Given the description of an element on the screen output the (x, y) to click on. 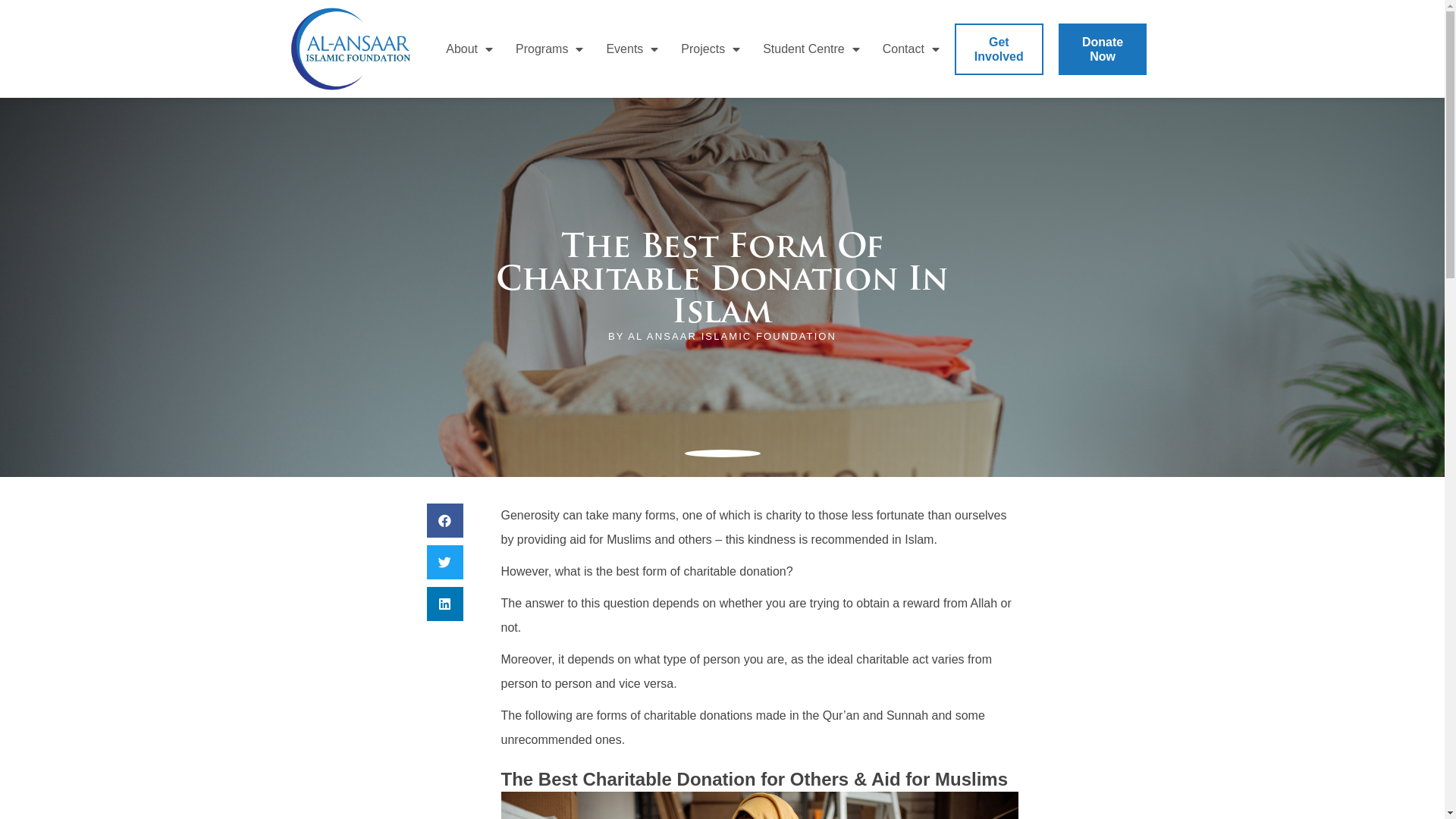
Donate Now Element type: text (1102, 49)
Events Element type: text (631, 48)
Student Centre Element type: text (810, 48)
Contact Element type: text (910, 48)
About Element type: text (468, 48)
Projects Element type: text (710, 48)
Programs Element type: text (549, 48)
aid for Muslims Element type: text (610, 539)
Get Involved Element type: text (998, 49)
BY AL ANSAAR ISLAMIC FOUNDATION Element type: text (722, 336)
